Given the description of an element on the screen output the (x, y) to click on. 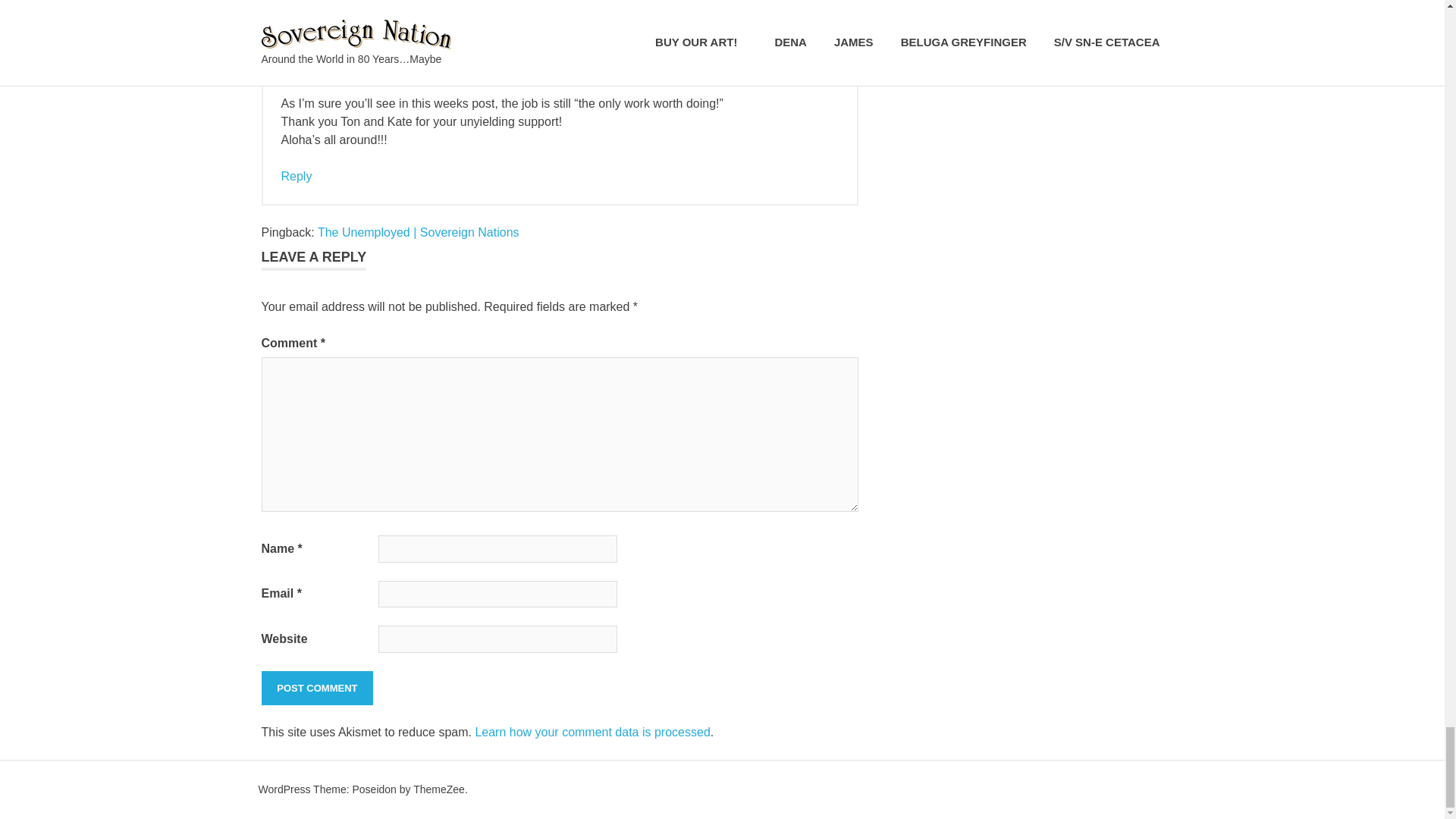
Post Comment (316, 687)
